Given the description of an element on the screen output the (x, y) to click on. 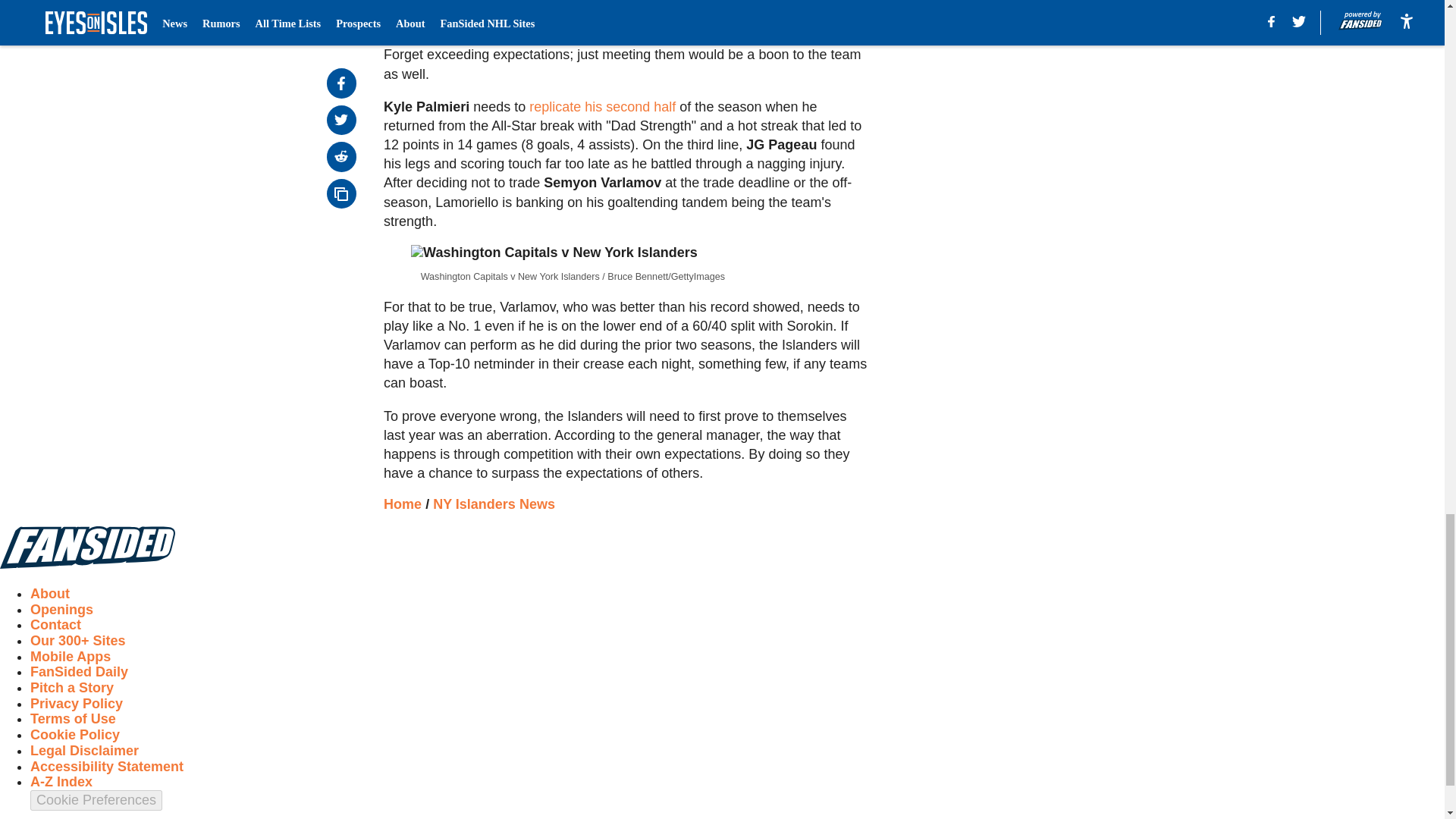
Openings (61, 609)
Privacy Policy (76, 703)
replicate his second half (604, 106)
FanSided Daily (79, 671)
Home (403, 503)
Pitch a Story (71, 687)
Terms of Use (73, 718)
Contact (55, 624)
About (49, 593)
gives Wahlstrom and lethal shot another opportunity (565, 21)
NY Islanders News (493, 503)
Mobile Apps (70, 656)
